Given the description of an element on the screen output the (x, y) to click on. 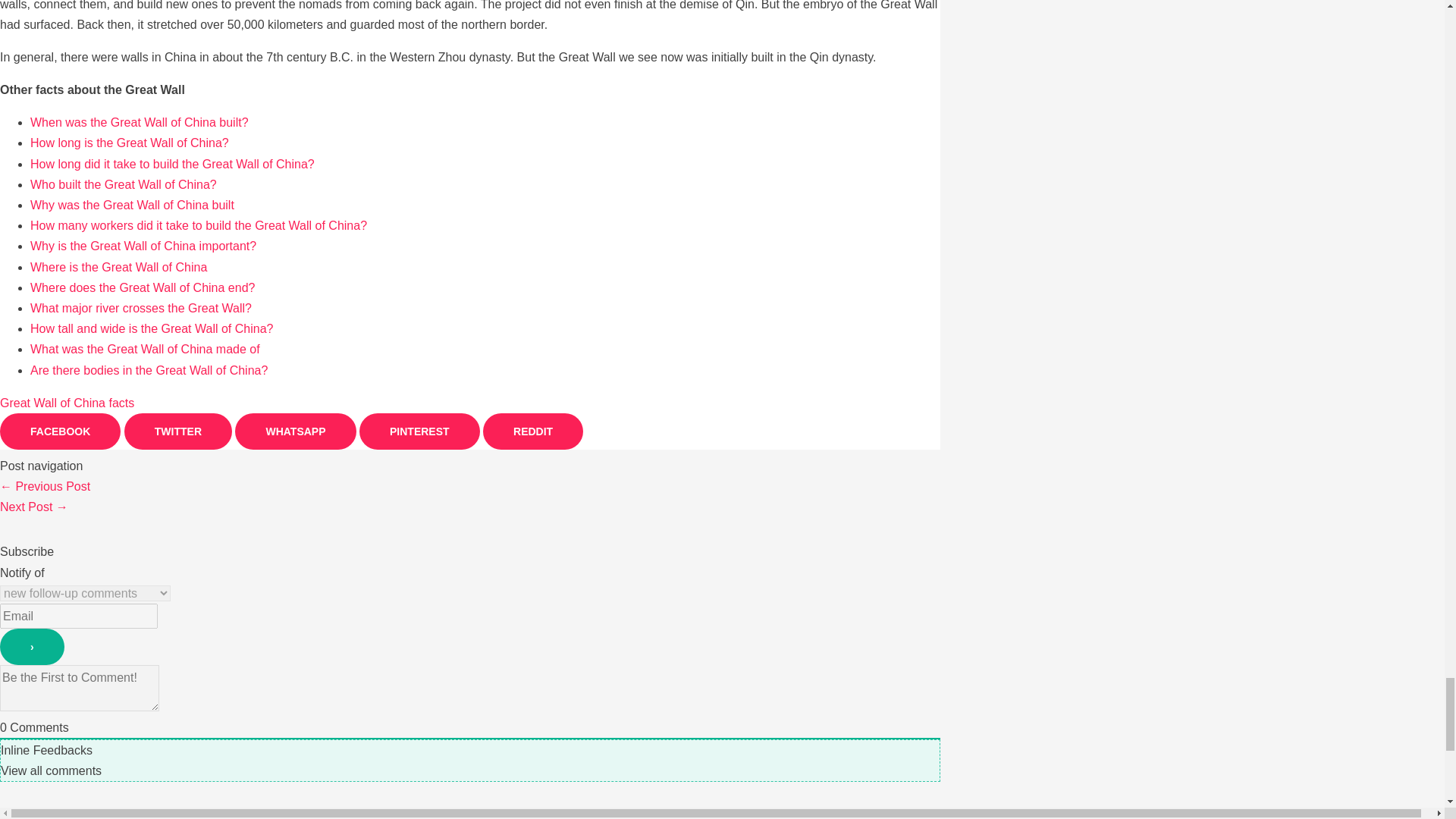
Is Tiananmen Square in the Forbidden City (45, 486)
Oriental Pearl Tower - Tickets, Highlights, and Tips (34, 506)
